Given the description of an element on the screen output the (x, y) to click on. 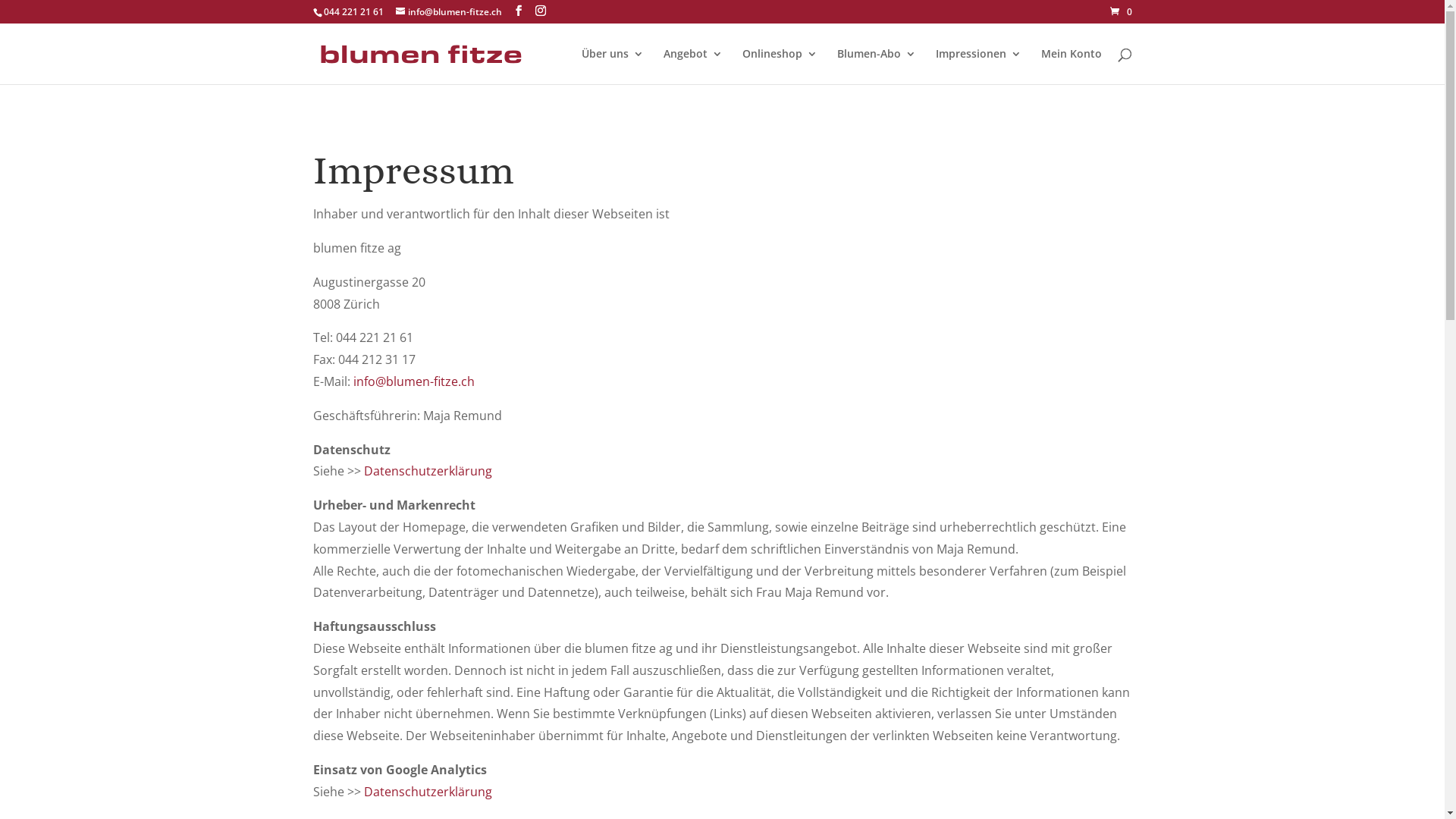
Blumen-Abo Element type: text (876, 66)
info@blumen-fitze.ch Element type: text (448, 11)
044 221 21 61 Element type: text (352, 11)
Impressionen Element type: text (978, 66)
Onlineshop Element type: text (778, 66)
Mein Konto Element type: text (1070, 66)
Angebot Element type: text (691, 66)
0 Element type: text (1121, 11)
info@blumen-fitze.ch Element type: text (413, 381)
